Given the description of an element on the screen output the (x, y) to click on. 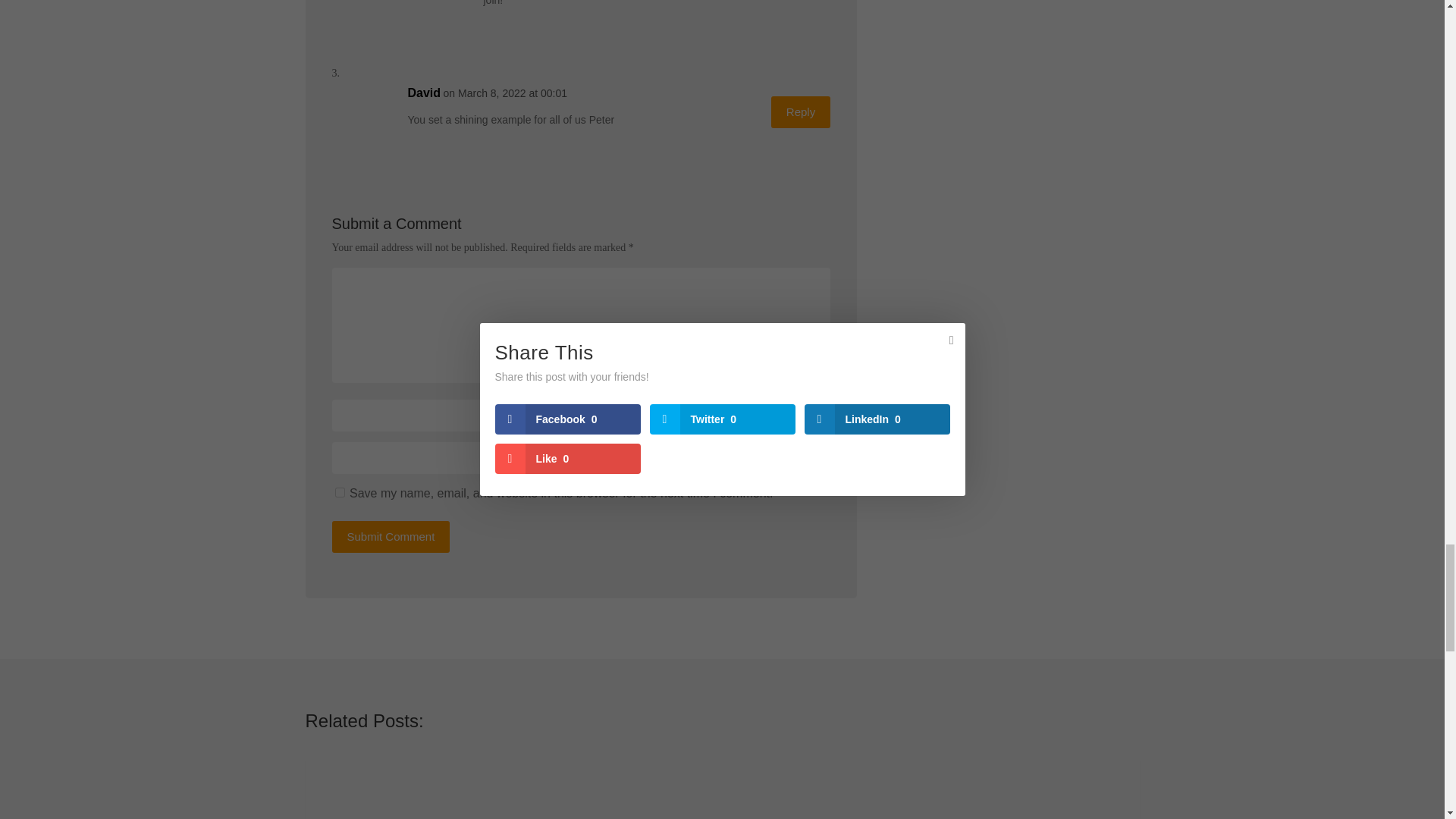
Reply (800, 111)
David (424, 93)
Submit Comment (390, 536)
yes (339, 492)
